Given the description of an element on the screen output the (x, y) to click on. 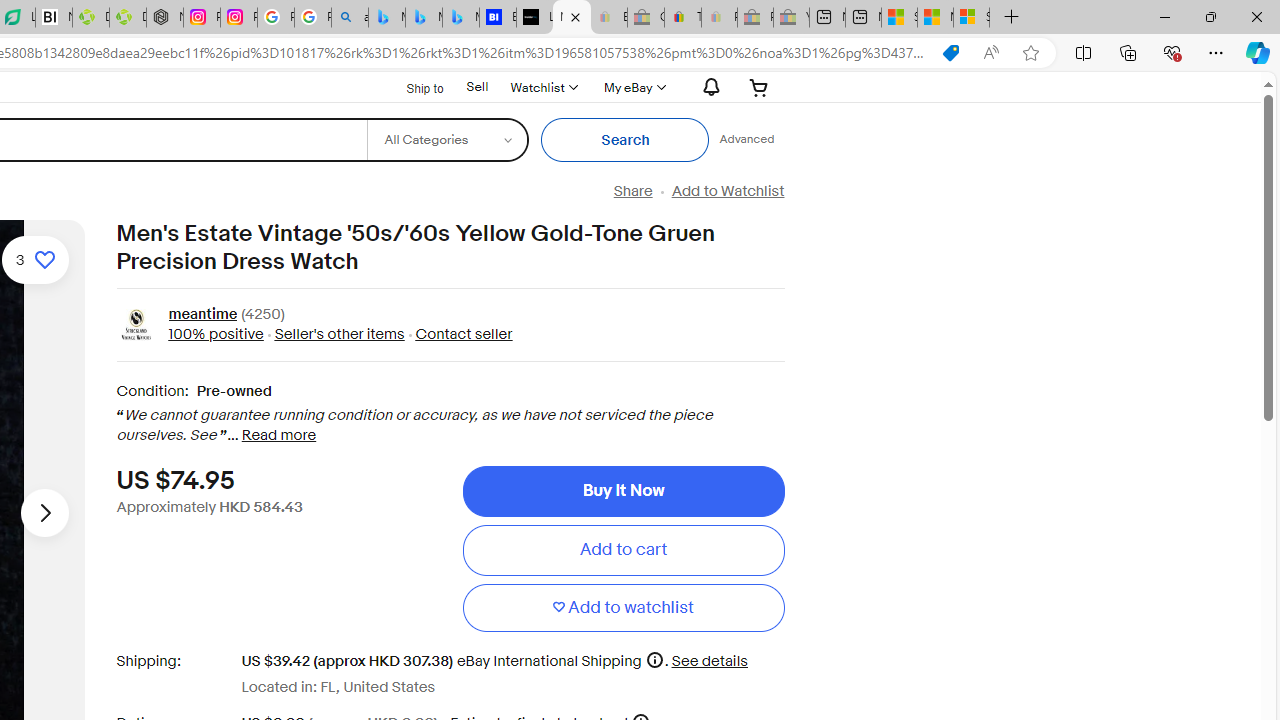
Add to cart (623, 550)
Add to cart (623, 550)
Nvidia va a poner a prueba la paciencia de los inversores (53, 17)
Advanced Search (746, 139)
Sign in to your Microsoft account (971, 17)
You have the best price! Shopping in Microsoft Edge (950, 53)
  Seller's other items (333, 334)
Your shopping cart (759, 87)
Nordace - Nordace Edin Collection (165, 17)
Seller's other items (338, 334)
Select a category for search (447, 139)
